Given the description of an element on the screen output the (x, y) to click on. 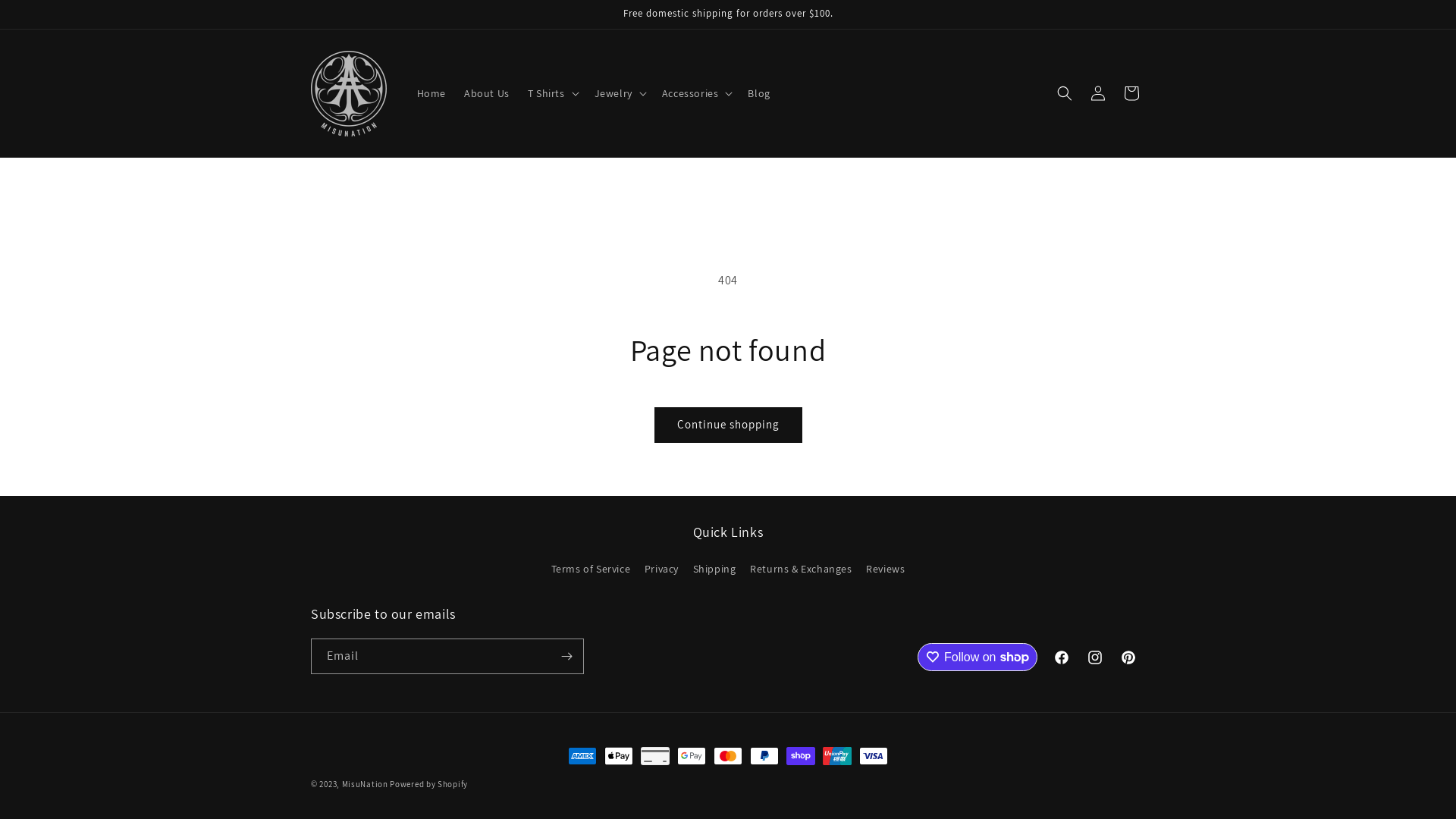
Facebook Element type: text (1061, 657)
Instagram Element type: text (1094, 657)
Powered by Shopify Element type: text (428, 783)
Reviews Element type: text (885, 568)
Pinterest Element type: text (1128, 657)
Cart Element type: text (1131, 92)
Shipping Element type: text (714, 568)
Terms of Service Element type: text (590, 570)
MisuNation Element type: text (365, 783)
Returns & Exchanges Element type: text (800, 568)
Privacy Element type: text (661, 568)
About Us Element type: text (486, 93)
Home Element type: text (431, 93)
Blog Element type: text (758, 93)
Log in Element type: text (1097, 92)
Continue shopping Element type: text (727, 424)
